Given the description of an element on the screen output the (x, y) to click on. 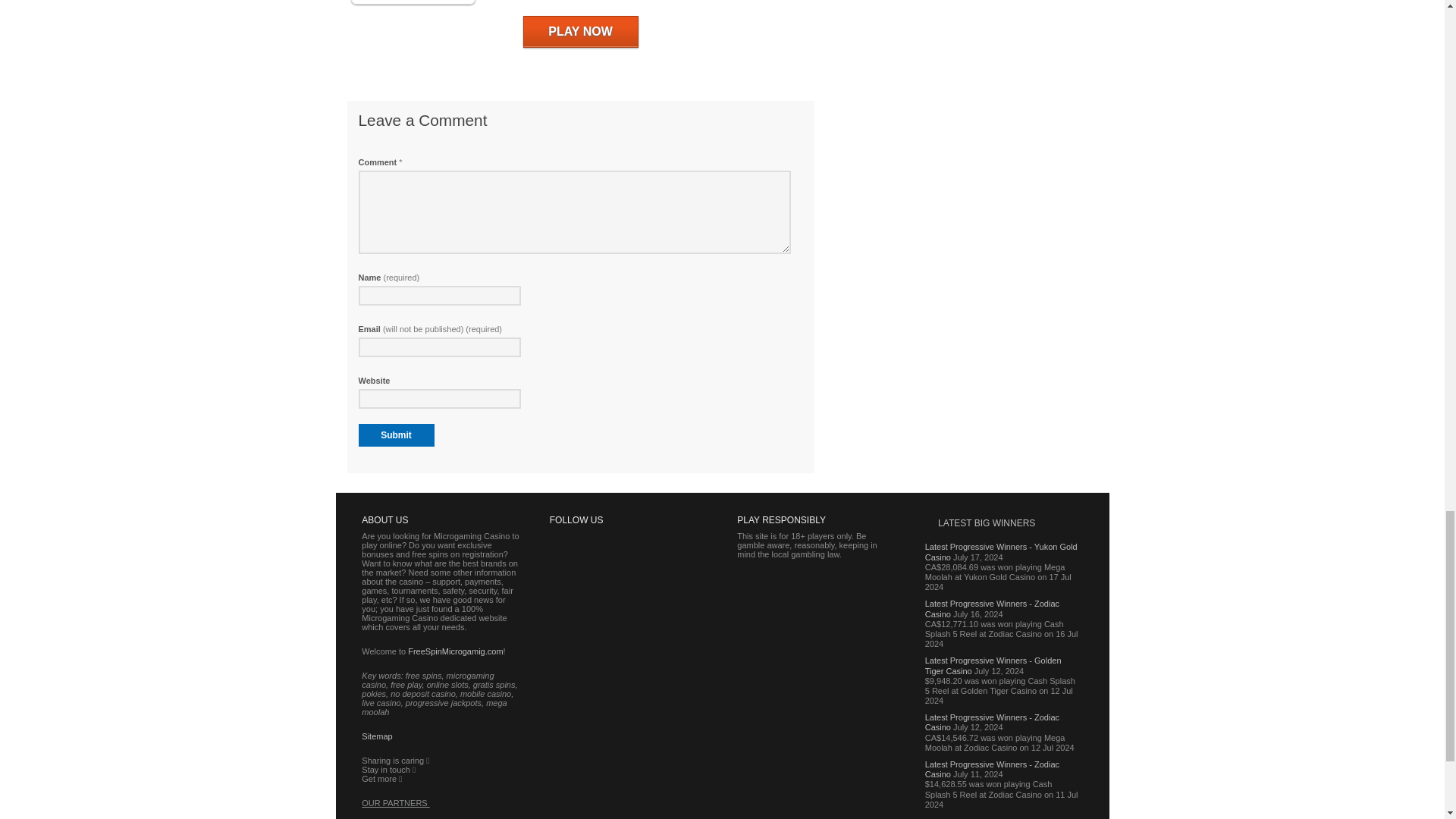
Follow us on Facebook (569, 570)
Follow us on Pinterest (648, 570)
Submit (395, 435)
FreeSpinMicrogaming.com (454, 651)
Submit (395, 435)
PLAY NOW (580, 31)
Follow us on Twitter (609, 570)
Follow us on Instagram (569, 613)
FreeSpinMicrogaming.com sitemap (376, 736)
